Given the description of an element on the screen output the (x, y) to click on. 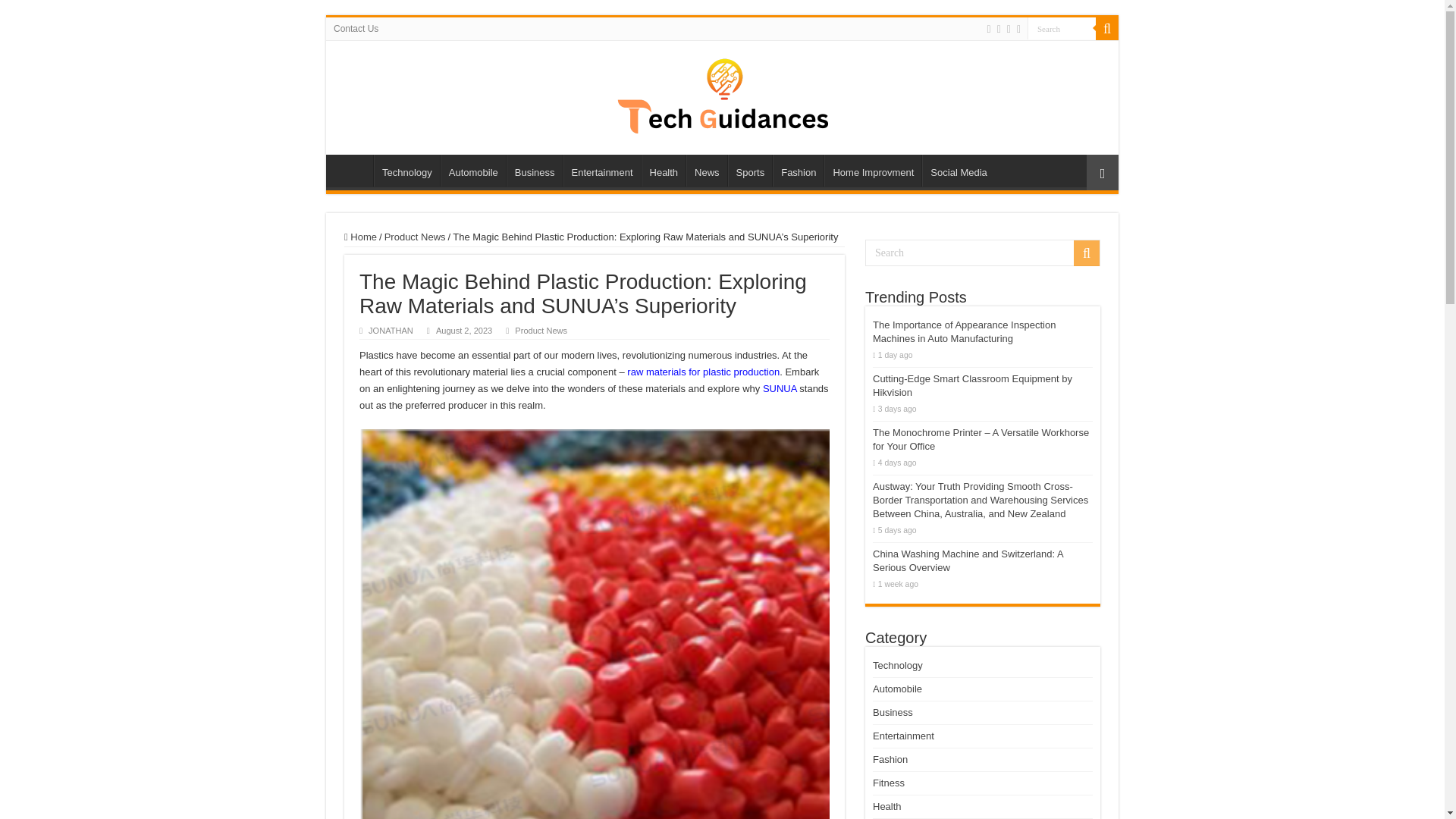
Entertainment (601, 170)
JONATHAN (390, 329)
Business (534, 170)
Search (982, 252)
Product News (414, 236)
Home Improvment (872, 170)
Fashion (798, 170)
Sports (750, 170)
Health (663, 170)
Search (1061, 28)
